Given the description of an element on the screen output the (x, y) to click on. 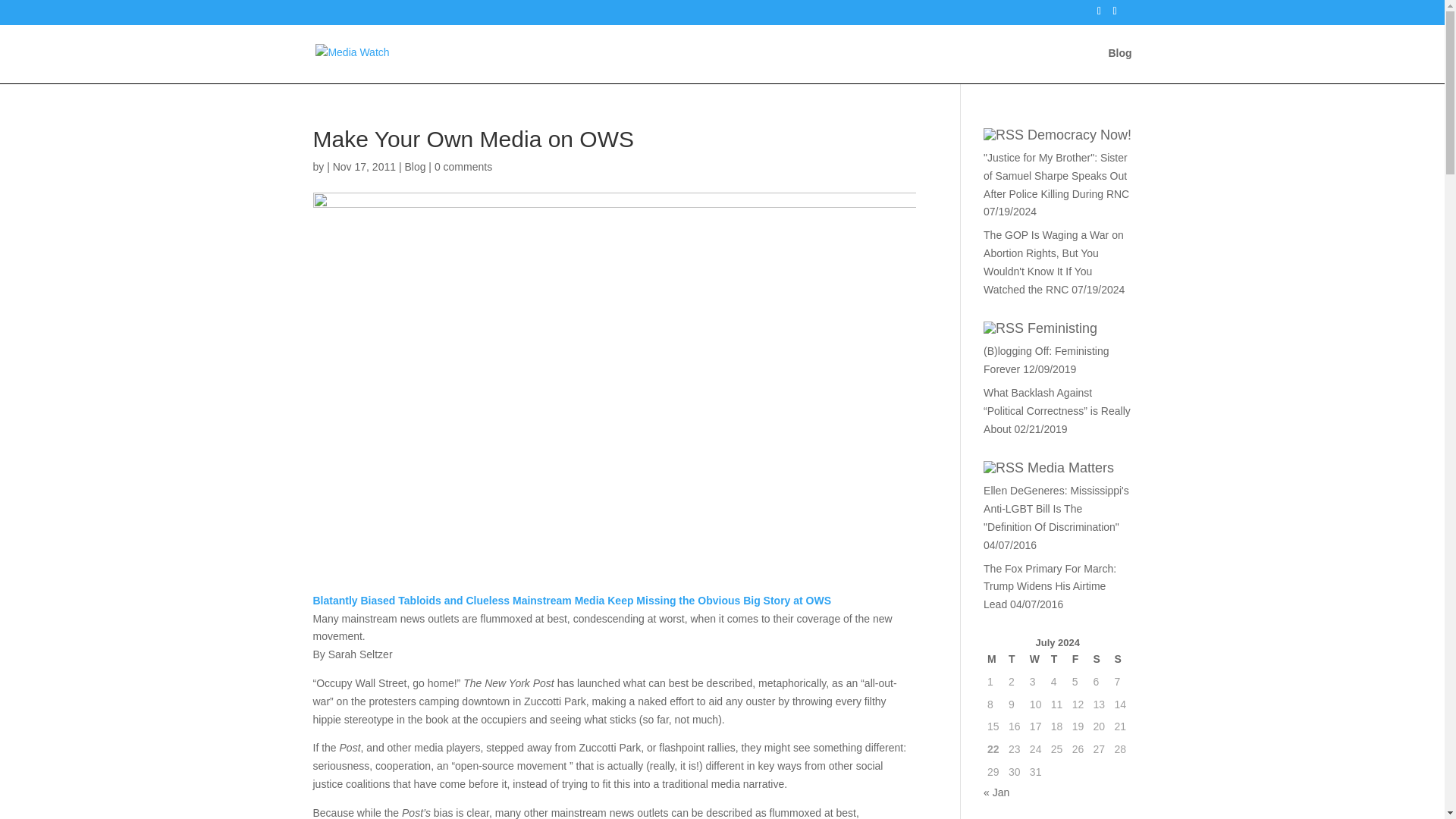
Monday (994, 659)
Wednesday (1036, 659)
Democracy Now! (1079, 134)
Feministing (1062, 328)
Tuesday (1015, 659)
Thursday (1057, 659)
Friday (1078, 659)
0 comments (462, 166)
Media Matters (1070, 467)
Sunday (1120, 659)
The Fox Primary For March: Trump Widens His Airtime Lead (1050, 586)
